Given the description of an element on the screen output the (x, y) to click on. 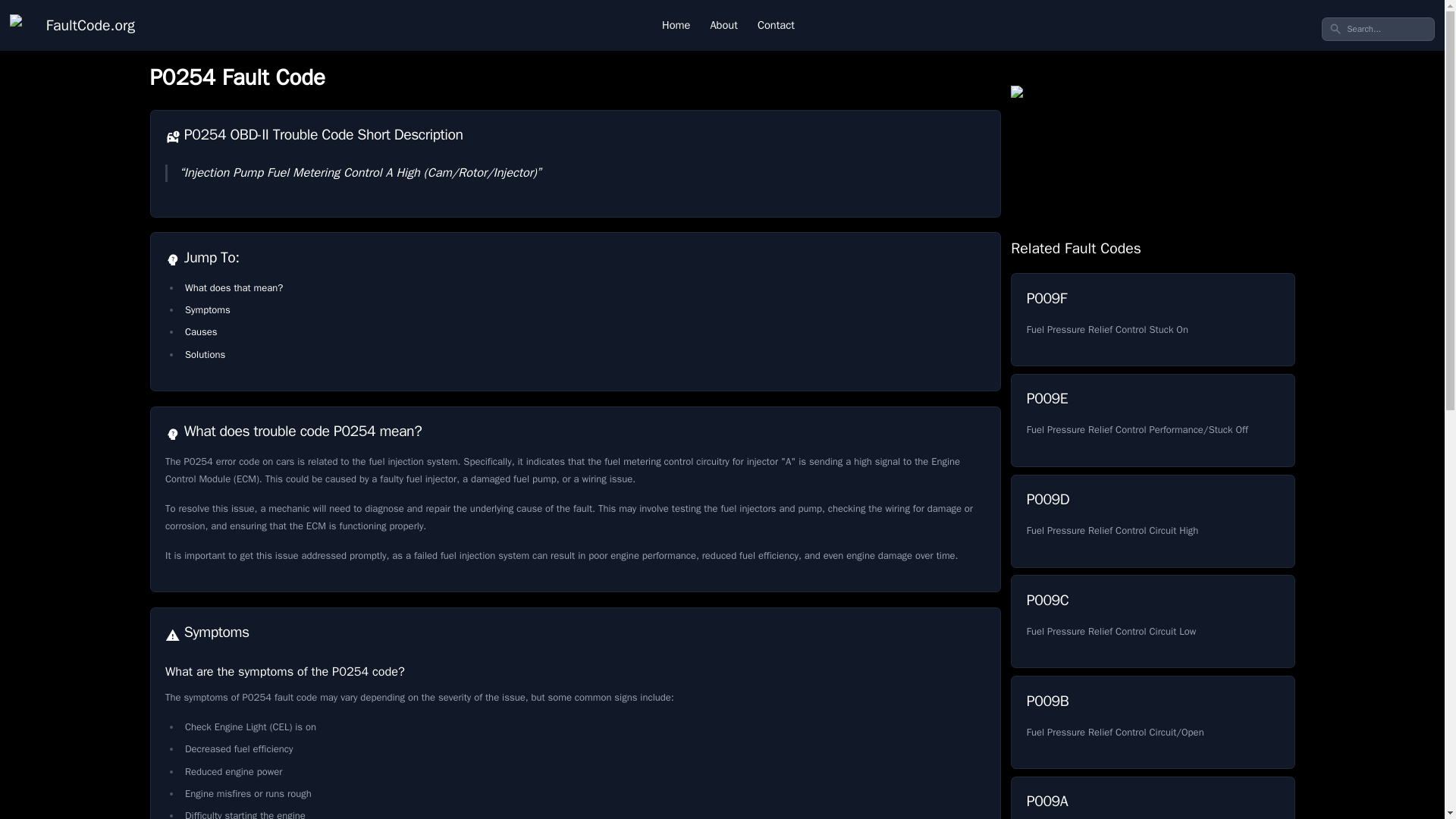
Contact (775, 25)
What does that mean? (233, 287)
P009F (1152, 319)
FaultCode.org (72, 25)
About (723, 25)
P009E (1152, 419)
Solutions (204, 354)
P009D (1152, 521)
P009A (1152, 797)
Causes (200, 331)
